Given the description of an element on the screen output the (x, y) to click on. 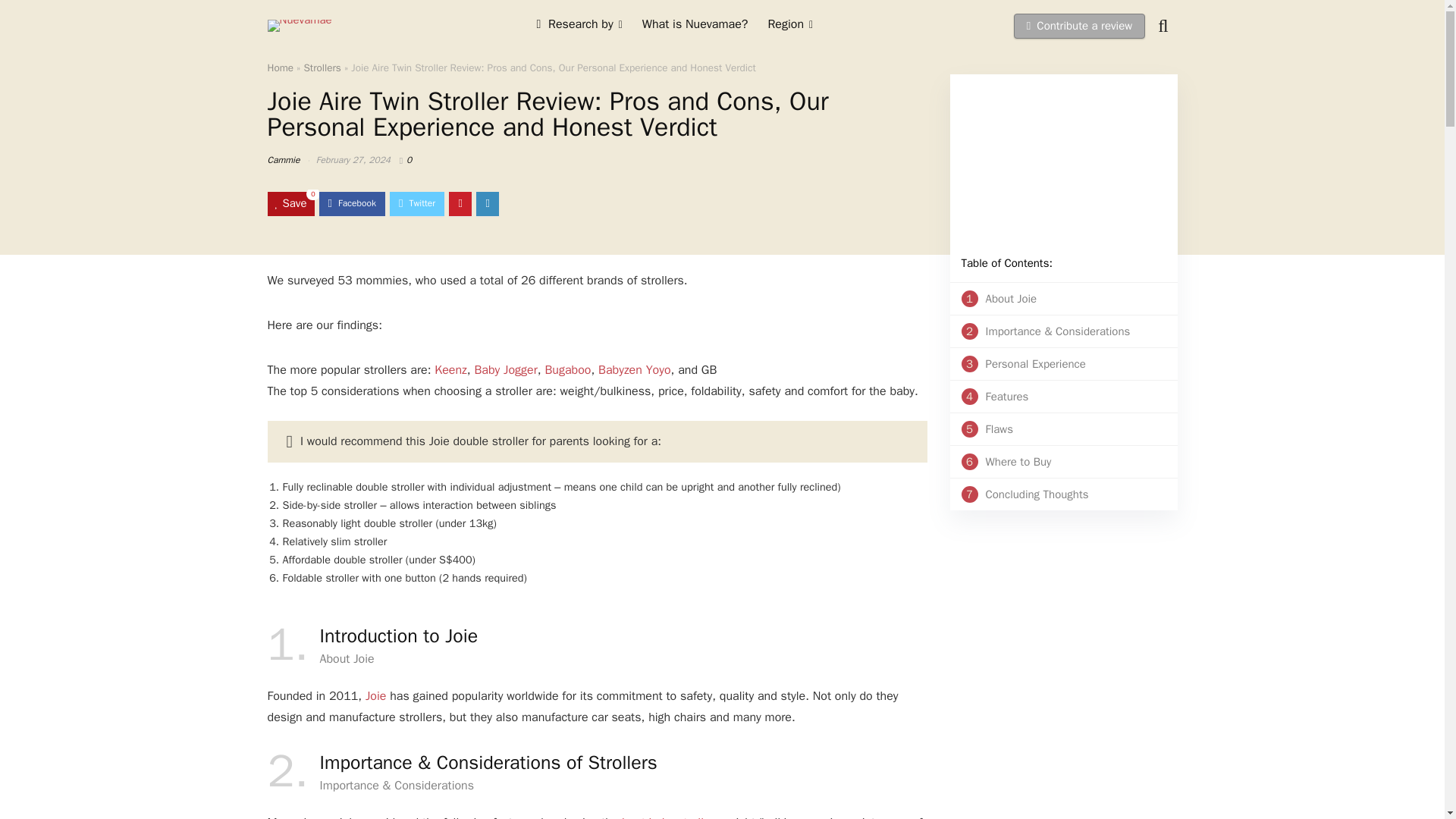
Research by (1059, 396)
Home (578, 25)
Region (1059, 494)
Contribute a review (1059, 461)
Strollers (280, 67)
What is Nuevamae? (789, 25)
